Given the description of an element on the screen output the (x, y) to click on. 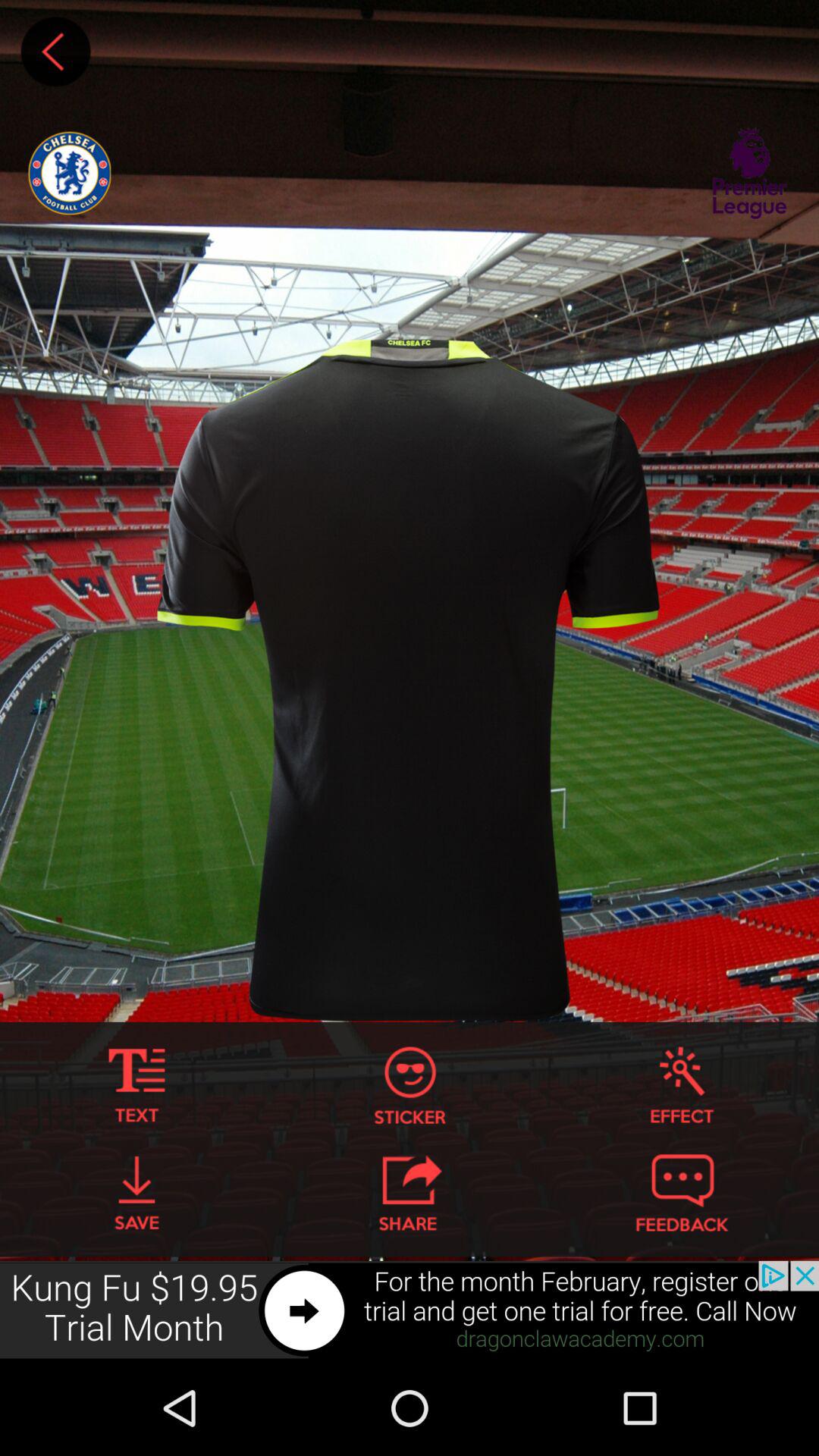
goes to advertiser 's website (409, 1310)
